Given the description of an element on the screen output the (x, y) to click on. 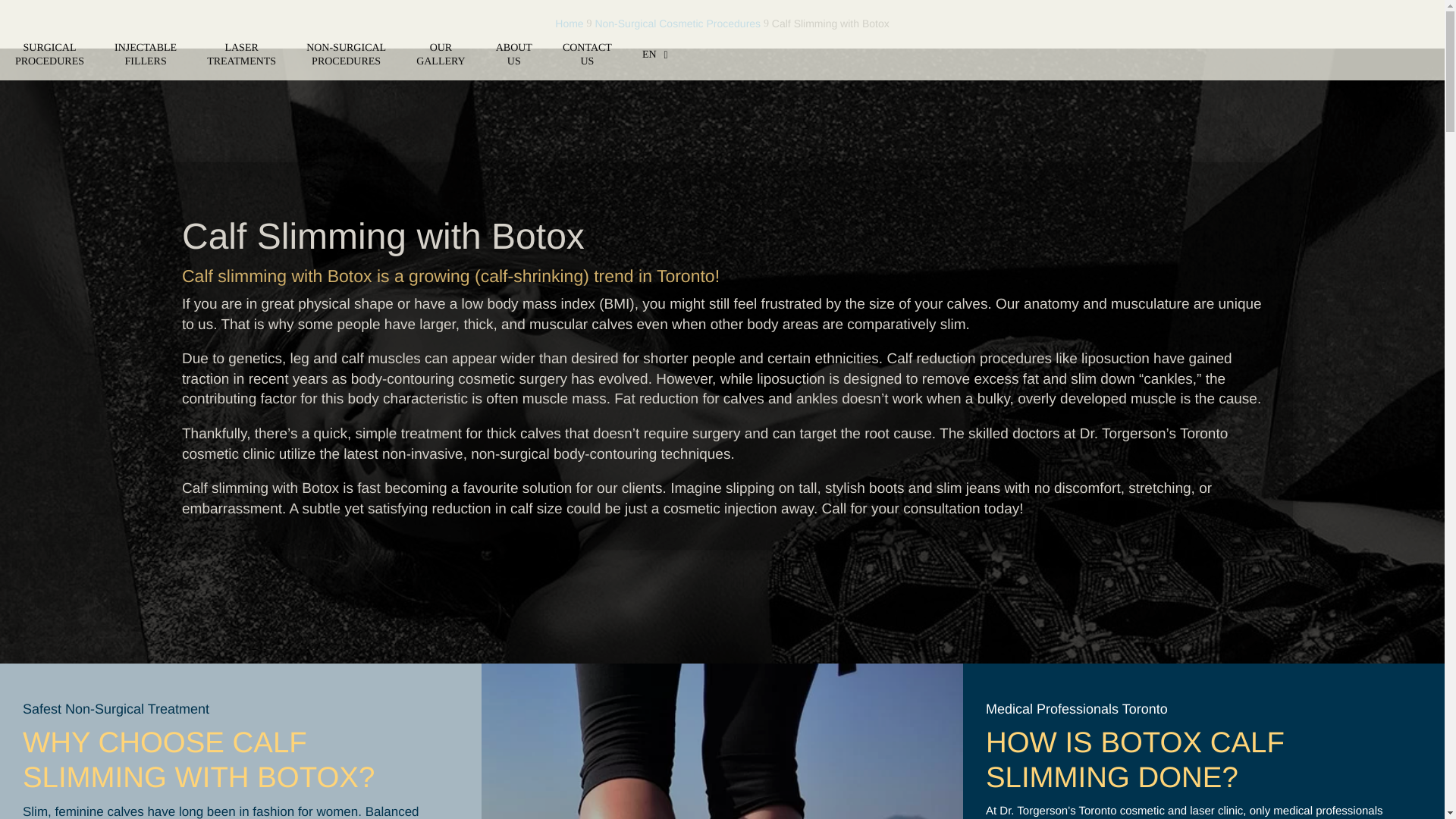
Injectable Fillers Toronto (145, 55)
